Given the description of an element on the screen output the (x, y) to click on. 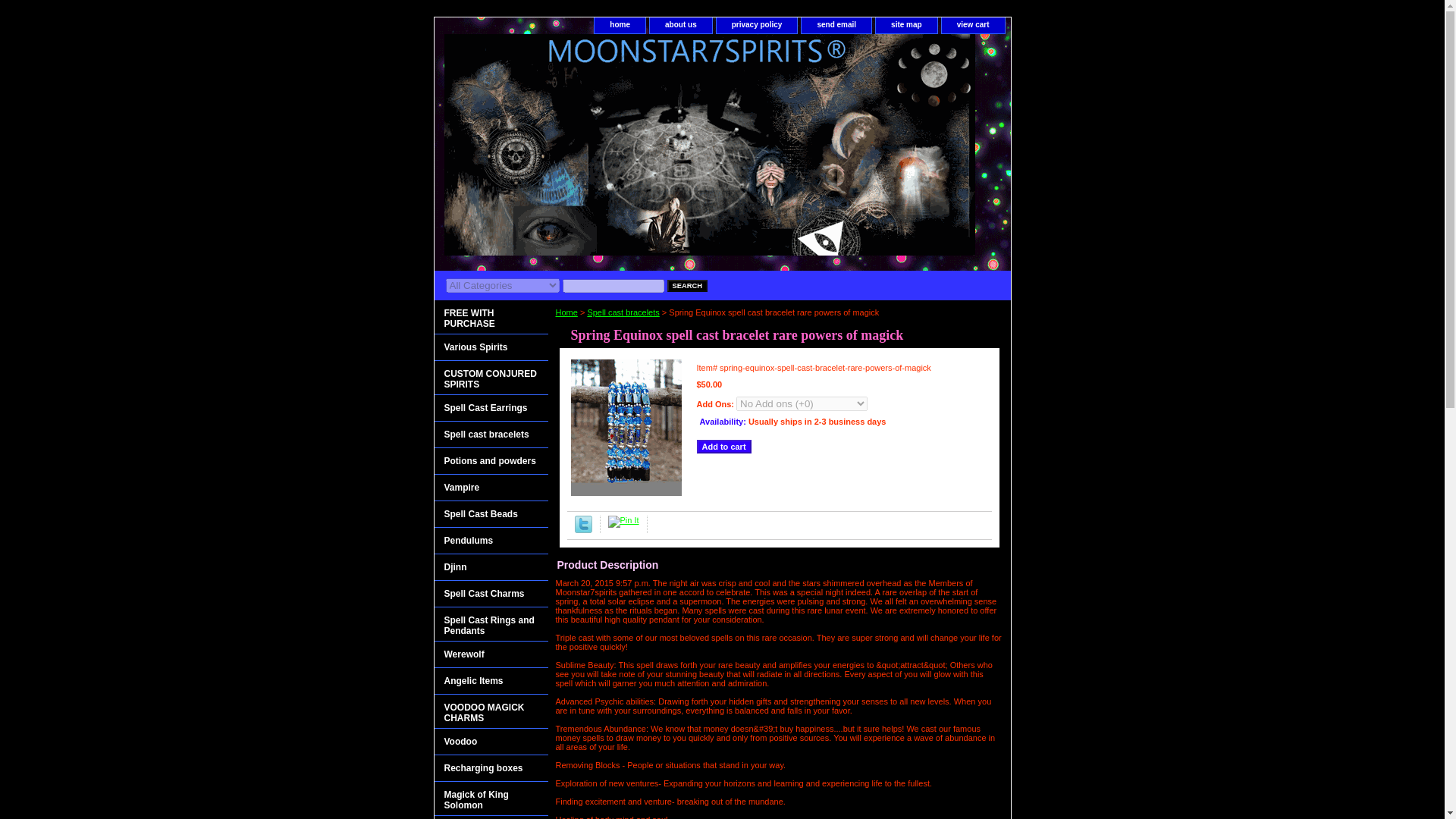
Pendulums (490, 540)
Potions and powders  (490, 461)
Home (565, 311)
Voodoo (490, 741)
Werewolf (490, 654)
SEARCH (686, 285)
Tweet (583, 529)
Spell Cast Rings and Pendants (490, 624)
Various Spirits (490, 347)
Pendulums (490, 540)
Spell cast bracelets (490, 434)
Add to cart (723, 446)
Spell Cast Charms (490, 593)
Spell Cast Charms (490, 593)
privacy policy (756, 25)
